Given the description of an element on the screen output the (x, y) to click on. 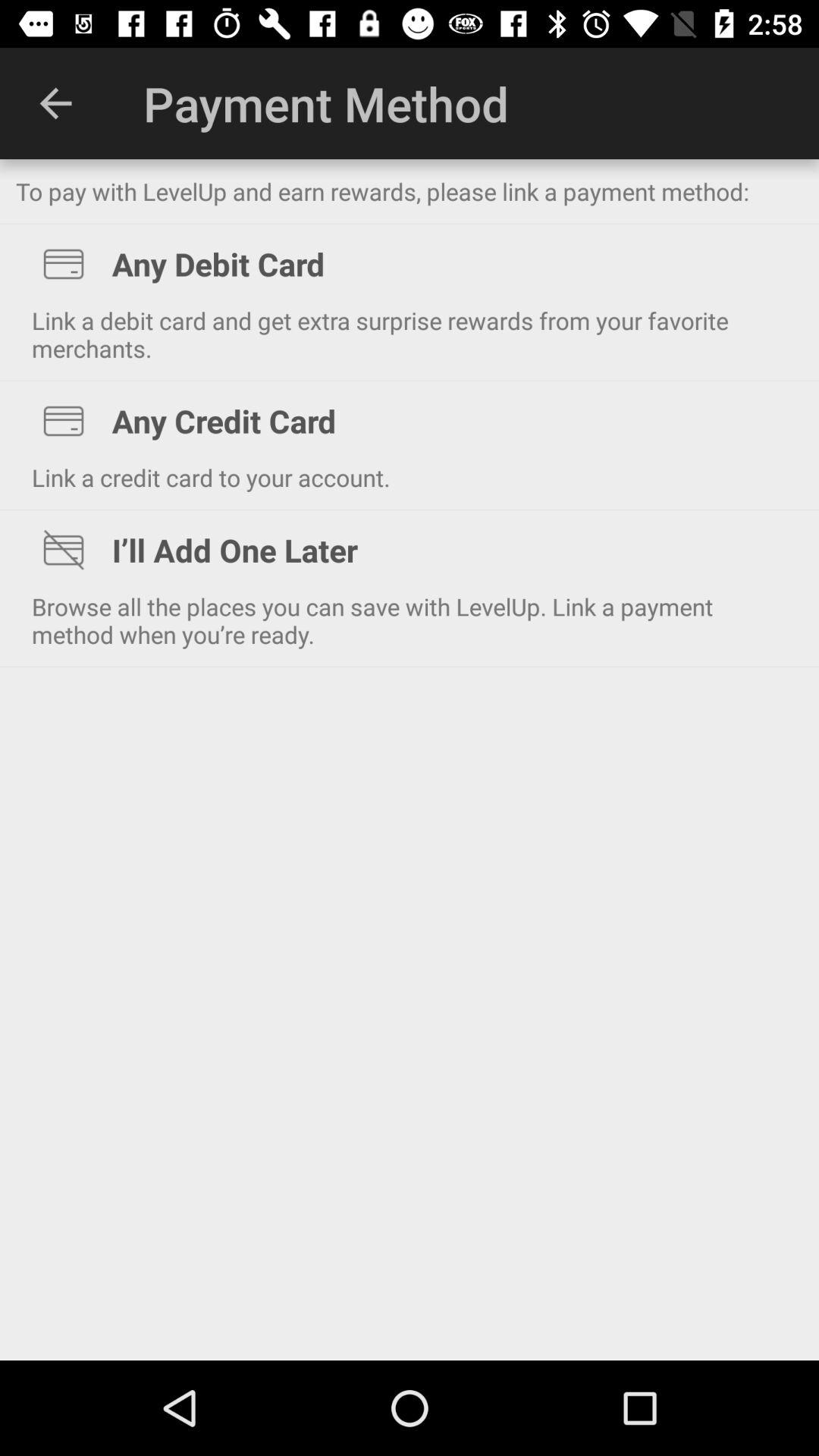
choose item above to pay with icon (55, 103)
